Given the description of an element on the screen output the (x, y) to click on. 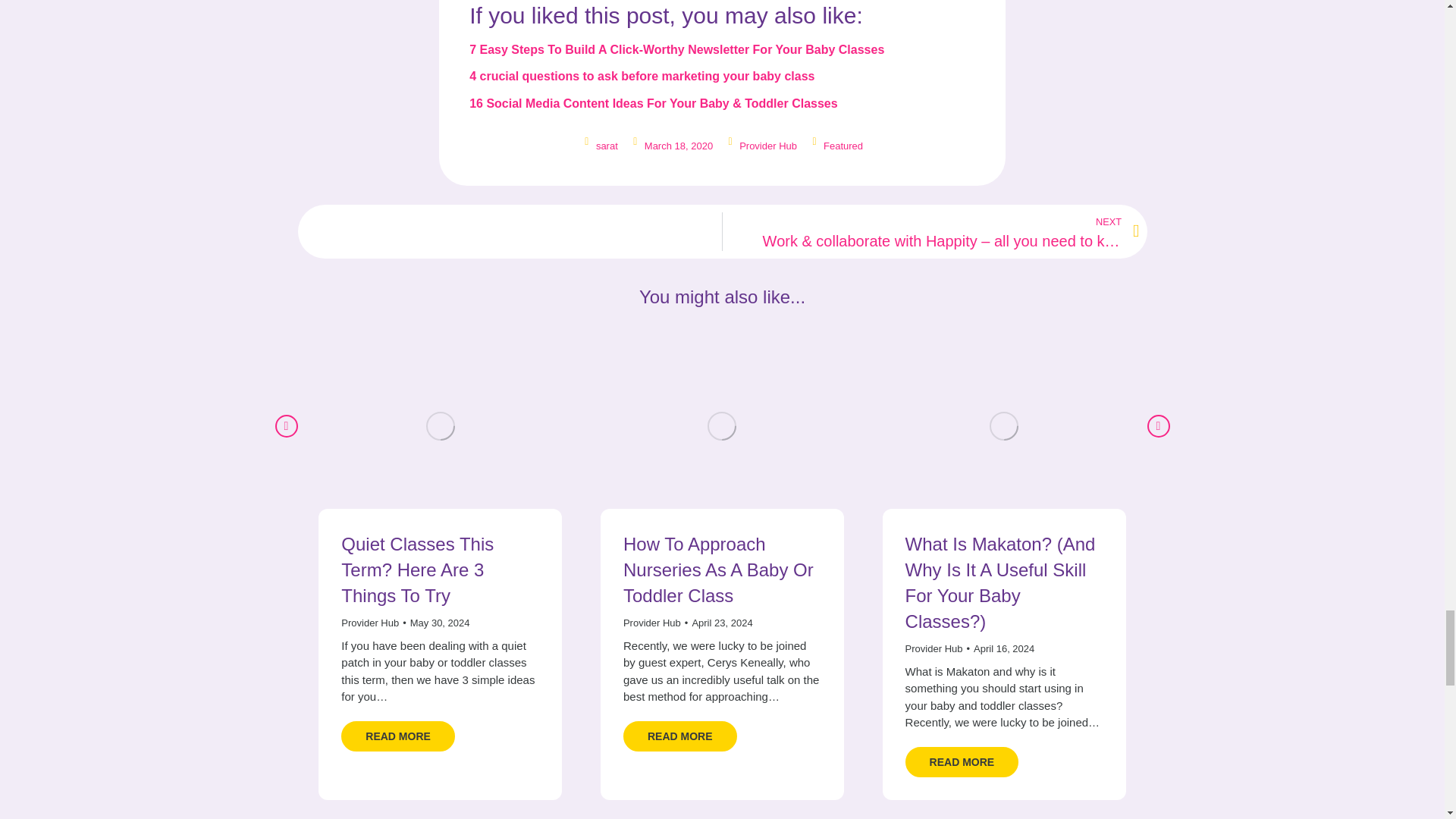
11:40 am (999, 649)
Quiet Classes This Term? Here Are 3 Things To Try (416, 569)
11:21 am (435, 622)
How To Approach Nurseries As A Baby Or Toddler Class (718, 569)
12:10 pm (718, 622)
